Given the description of an element on the screen output the (x, y) to click on. 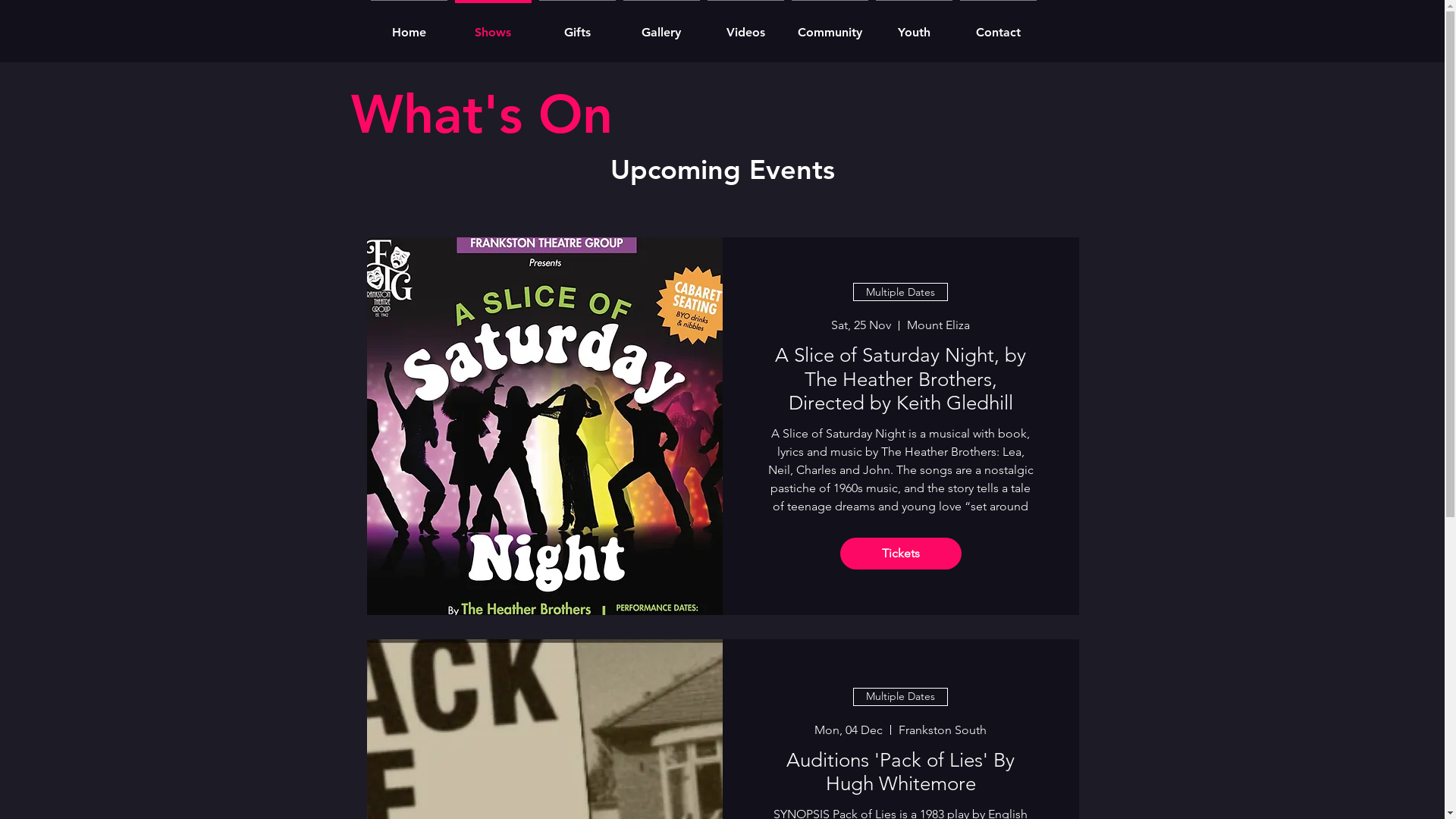
Gifts Element type: text (577, 25)
Home Element type: text (409, 25)
Contact Element type: text (997, 25)
Gallery Element type: text (660, 25)
Community Element type: text (829, 25)
Auditions 'Pack of Lies' By Hugh Whitemore Element type: text (900, 771)
Tickets Element type: text (900, 553)
Youth Element type: text (914, 25)
Videos Element type: text (745, 25)
Shows Element type: text (492, 25)
